Given the description of an element on the screen output the (x, y) to click on. 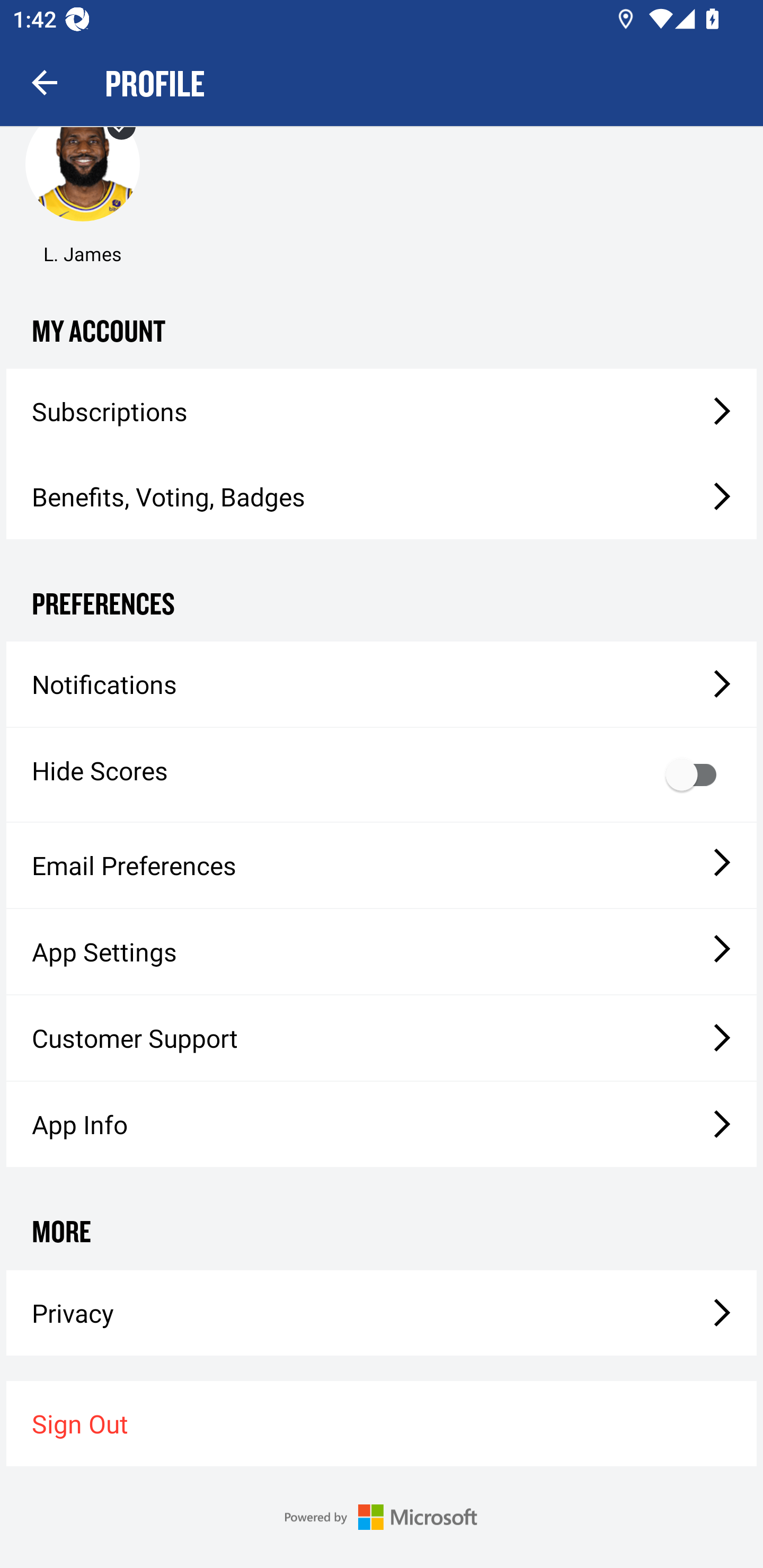
Navigate up (44, 82)
L. James (82, 186)
Subscriptions (381, 411)
Benefits, Voting, Badges (381, 496)
Notifications (381, 684)
Hide Scores (381, 774)
Email Preferences (381, 865)
App Settings (381, 951)
Customer Support (381, 1037)
App Info (381, 1123)
Privacy (381, 1313)
Sign Out (381, 1423)
